Given the description of an element on the screen output the (x, y) to click on. 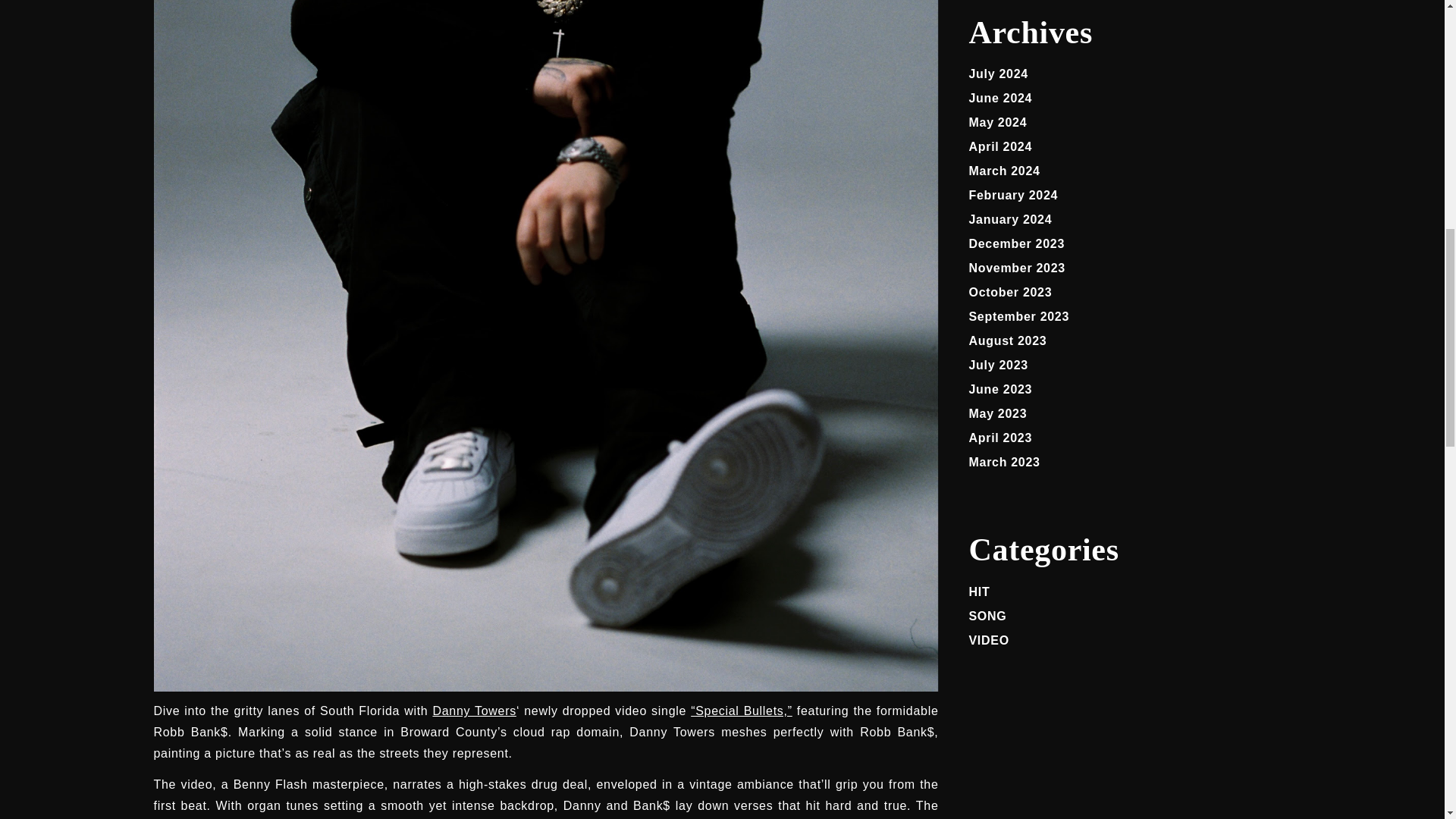
Danny Towers (473, 710)
